Given the description of an element on the screen output the (x, y) to click on. 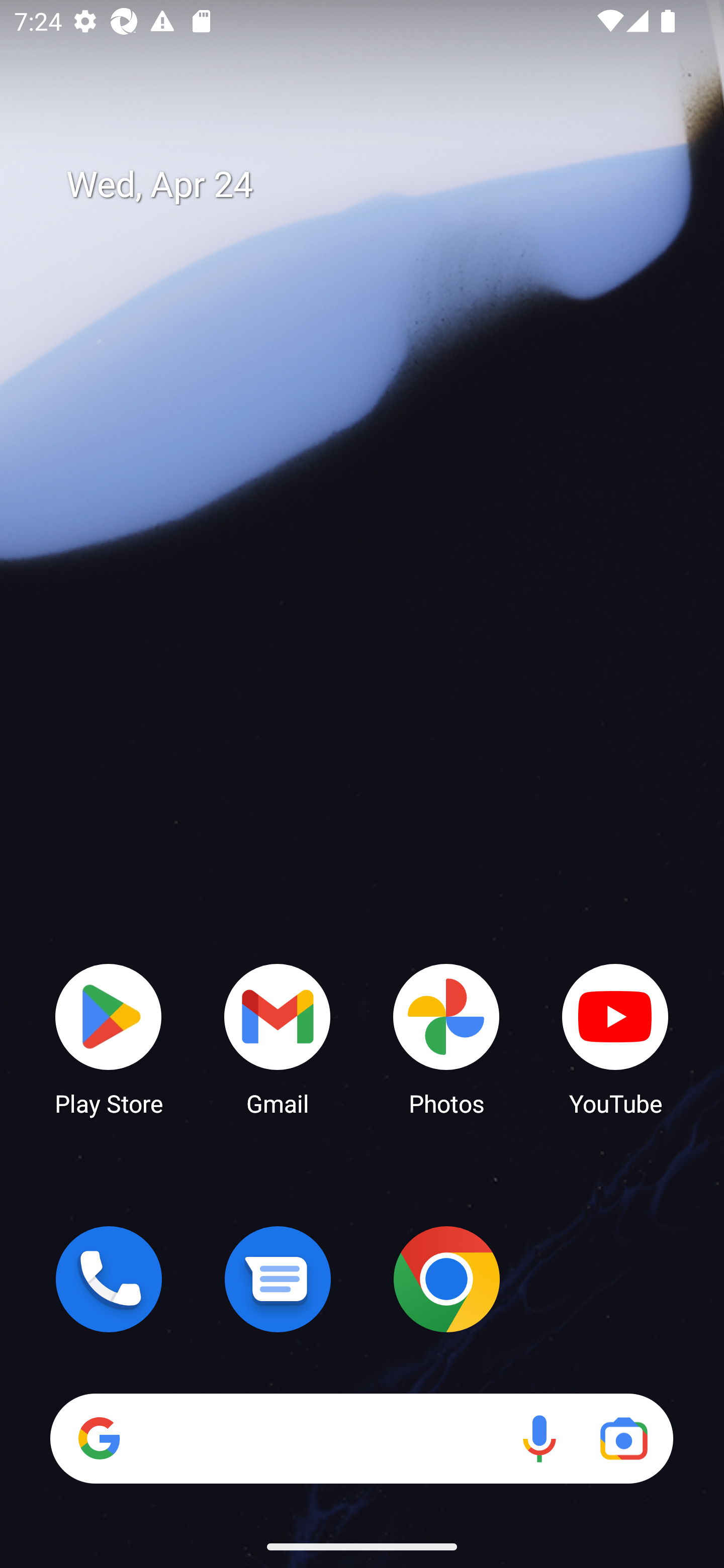
Wed, Apr 24 (375, 184)
Play Store (108, 1038)
Gmail (277, 1038)
Photos (445, 1038)
YouTube (615, 1038)
Phone (108, 1279)
Messages (277, 1279)
Chrome (446, 1279)
Search Voice search Google Lens (361, 1438)
Voice search (539, 1438)
Google Lens (623, 1438)
